Given the description of an element on the screen output the (x, y) to click on. 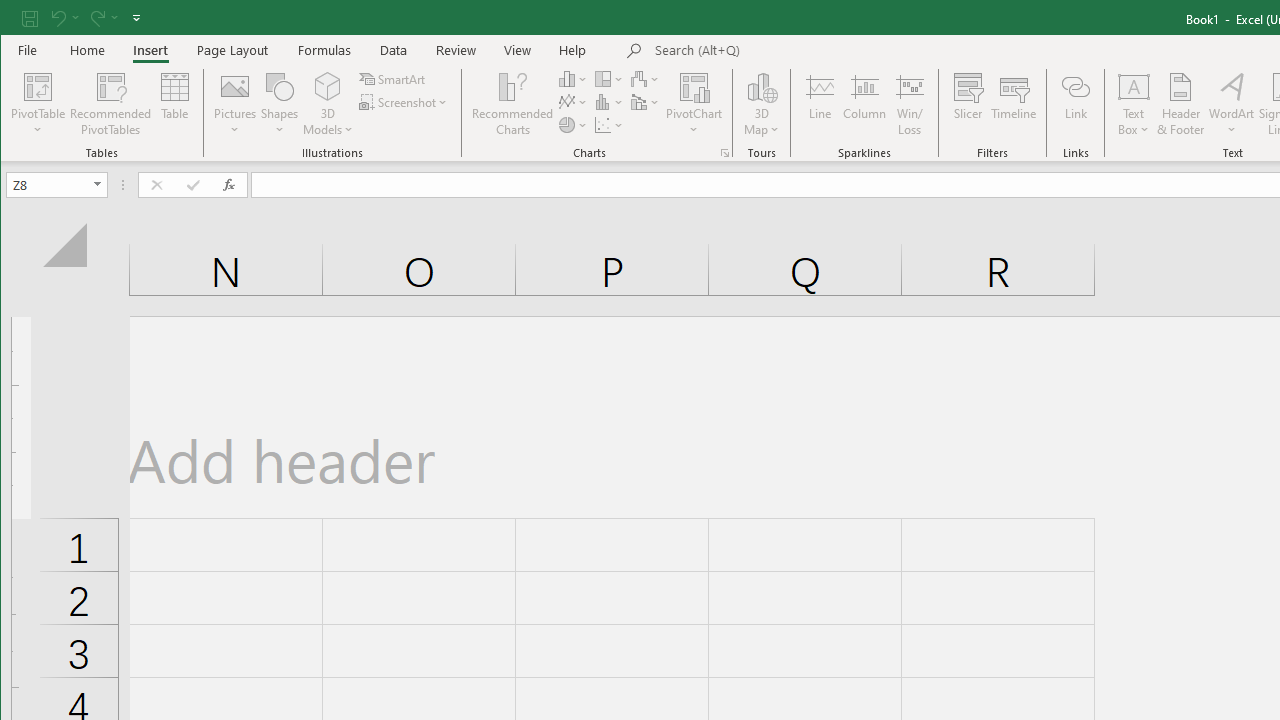
PivotTable (37, 86)
Data (394, 50)
Redo (102, 17)
More Options (1133, 123)
3D Map (762, 86)
3D Models (327, 86)
Insert Column or Bar Chart (573, 78)
Formulas (325, 50)
Redo (96, 17)
Shapes (279, 104)
WordArt (1231, 104)
Table (174, 104)
View (518, 50)
Undo (57, 17)
